Given the description of an element on the screen output the (x, y) to click on. 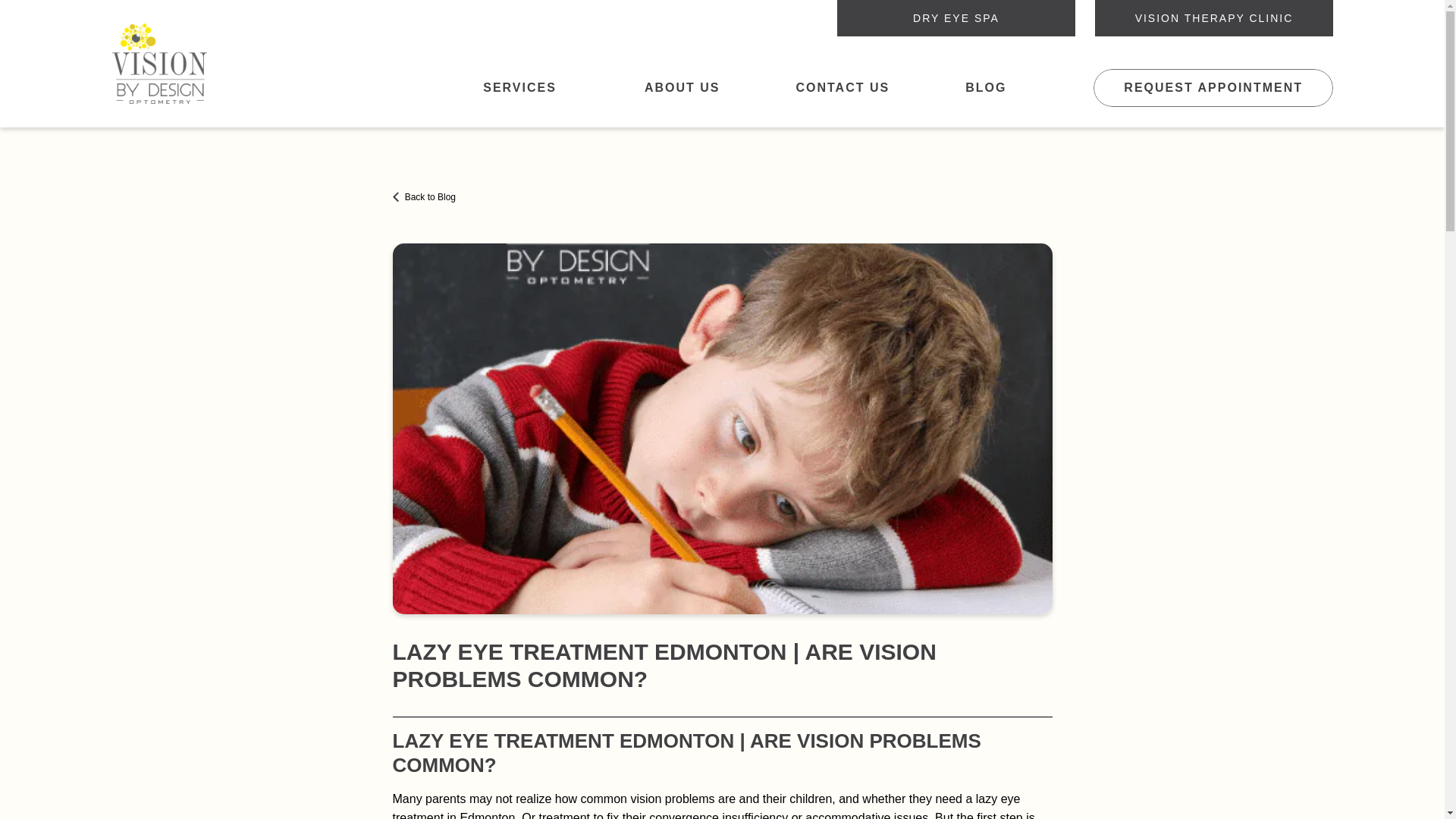
Submit (721, 658)
BLOG (985, 87)
CONTACT US (841, 87)
REQUEST APPOINTMENT (1213, 87)
SERVICES (526, 87)
ABOUT US (681, 87)
Back to Blog (425, 197)
DRY EYE SPA (956, 18)
VISION THERAPY CLINIC (1213, 18)
